Given the description of an element on the screen output the (x, y) to click on. 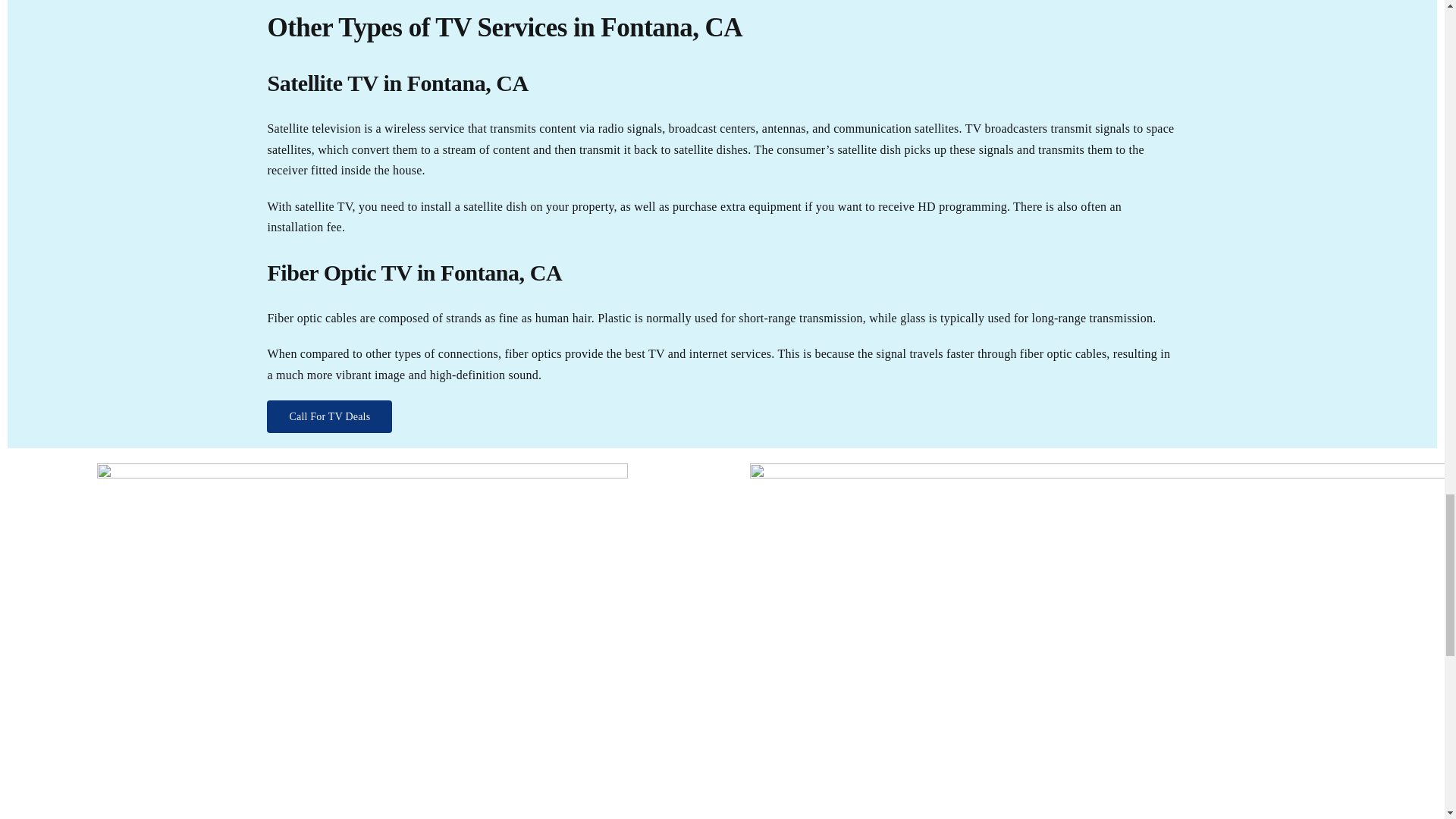
Call For TV Deals (328, 416)
